Given the description of an element on the screen output the (x, y) to click on. 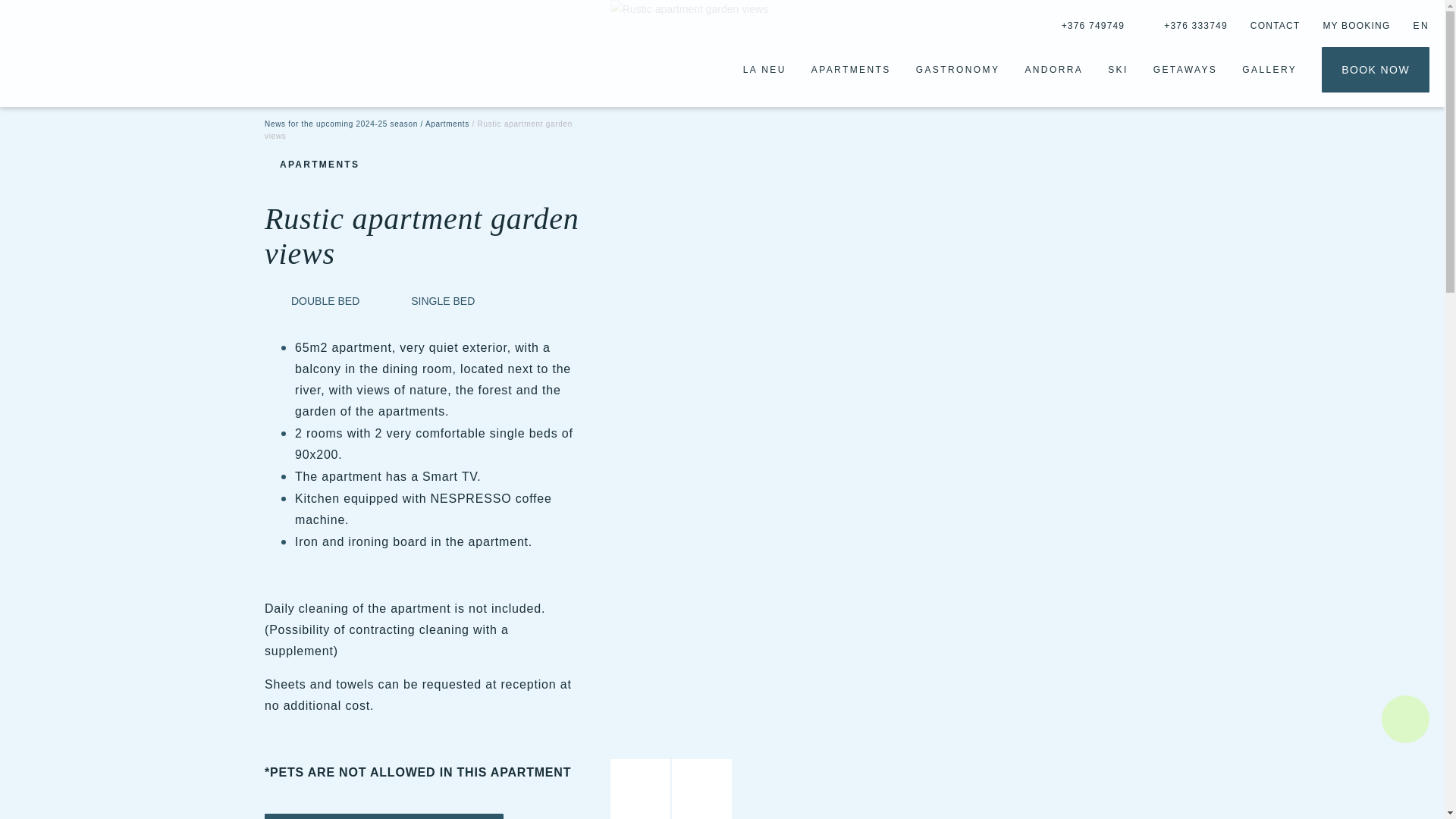
La Neu (764, 68)
Apartaments La Neu (82, 56)
My booking (1356, 24)
Apartments (850, 68)
Contact (1275, 24)
